Given the description of an element on the screen output the (x, y) to click on. 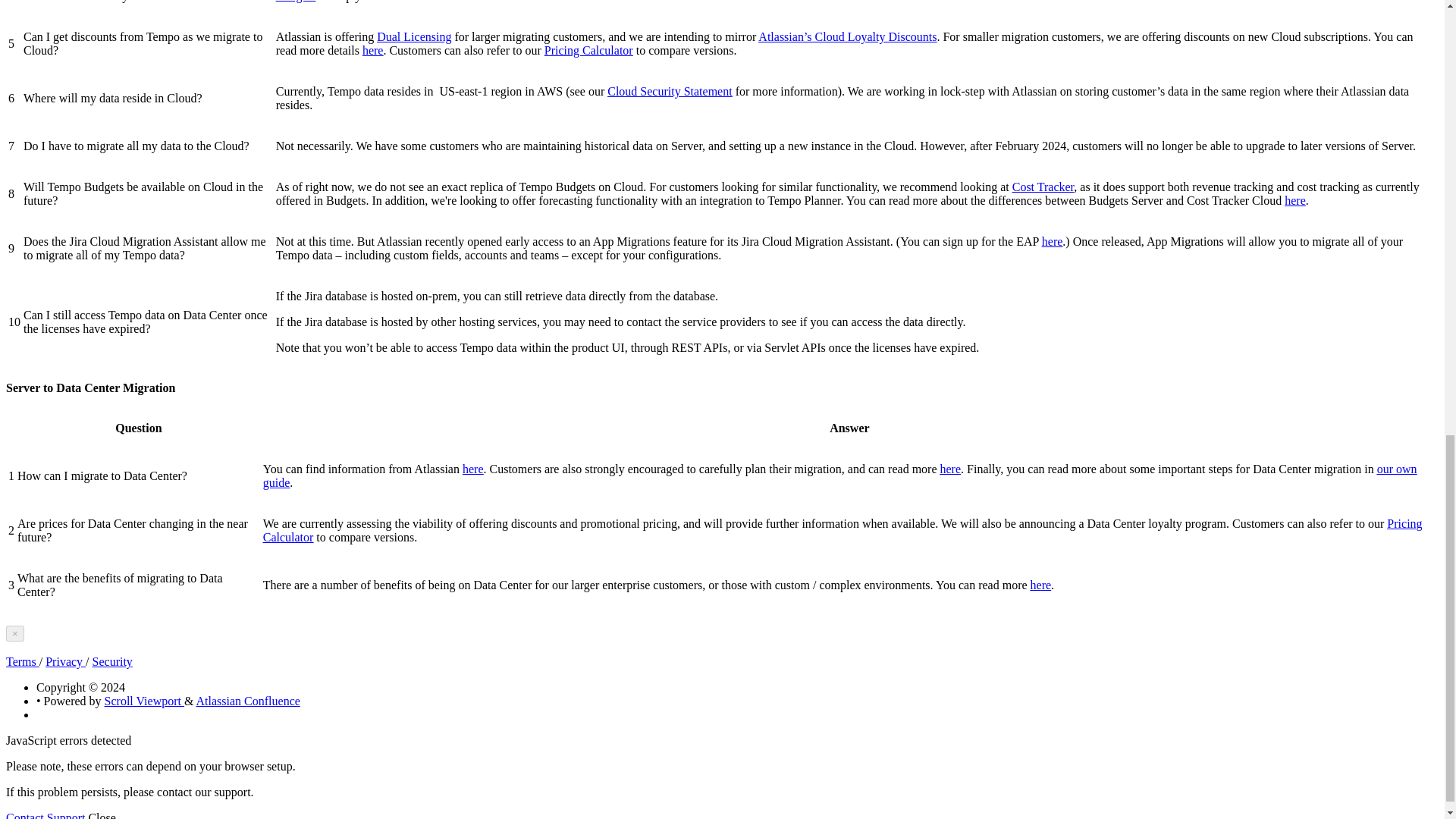
Cost Tracker (1042, 186)
Pricing Calculator (588, 50)
Scroll Viewport (144, 700)
Budgets (295, 1)
Cloud Security Statement (669, 91)
Terms (22, 661)
here (950, 468)
Atlassian Confluence (247, 700)
here (1052, 241)
our own guide (839, 475)
